Given the description of an element on the screen output the (x, y) to click on. 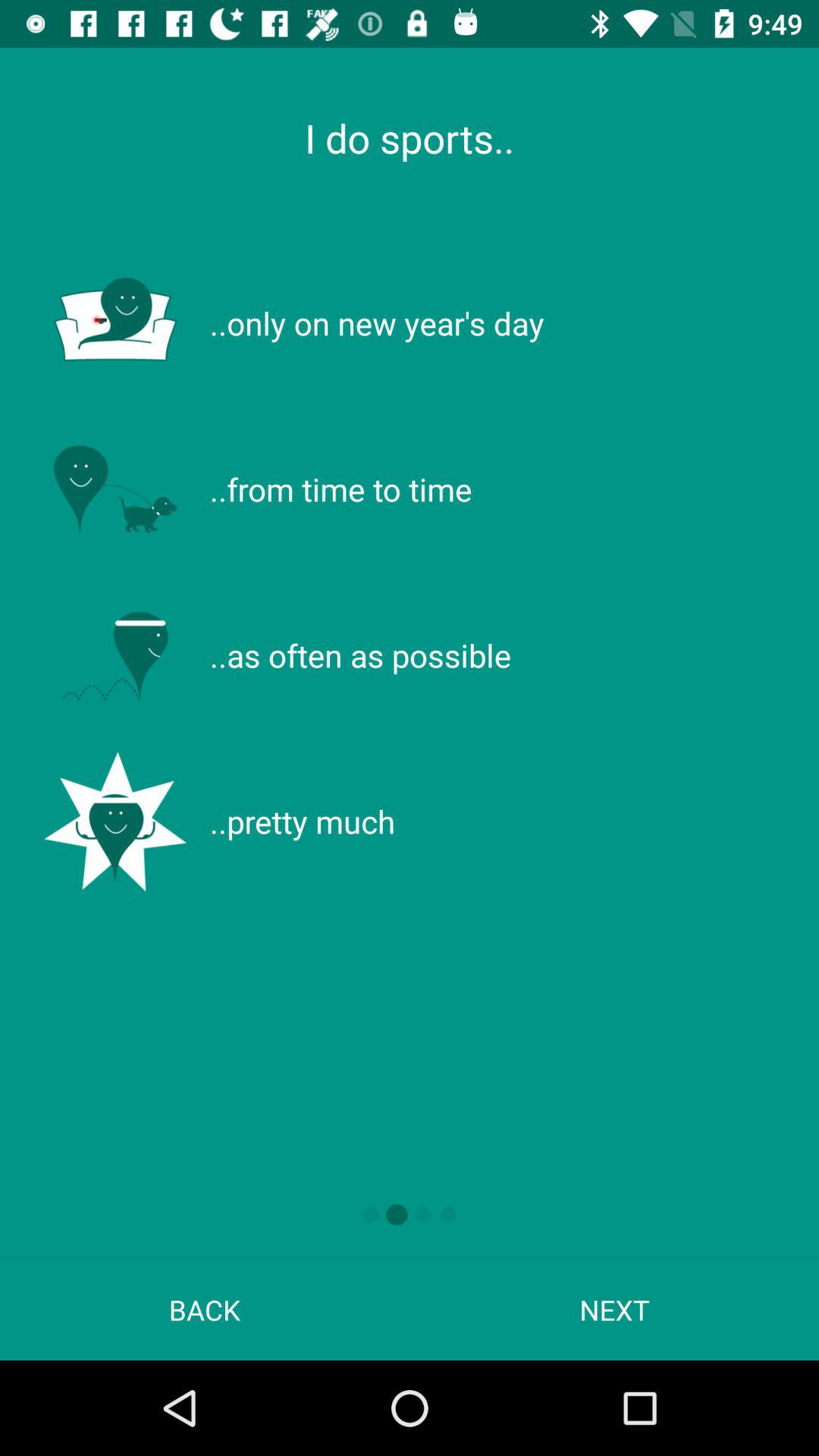
choose the app to the left of next icon (204, 1309)
